Given the description of an element on the screen output the (x, y) to click on. 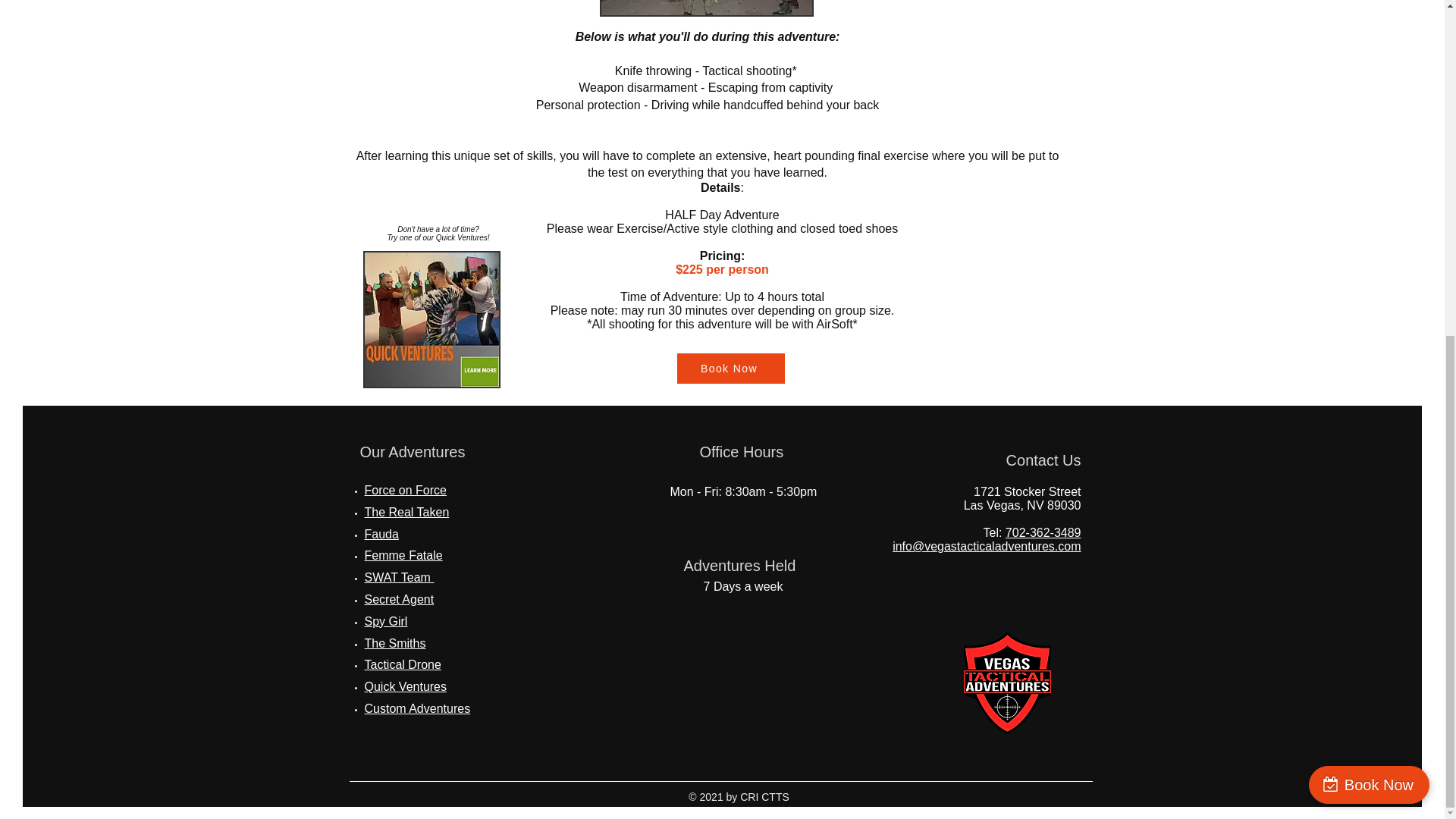
702-362-3489 (1043, 532)
Book Now (730, 368)
Force on Force (404, 490)
Secret Agent (398, 599)
Tactical Drone (402, 664)
Fauda (380, 533)
Custom Adventures (417, 707)
The Smiths (394, 643)
The Real Taken (406, 512)
SWAT Team  (398, 576)
